Given the description of an element on the screen output the (x, y) to click on. 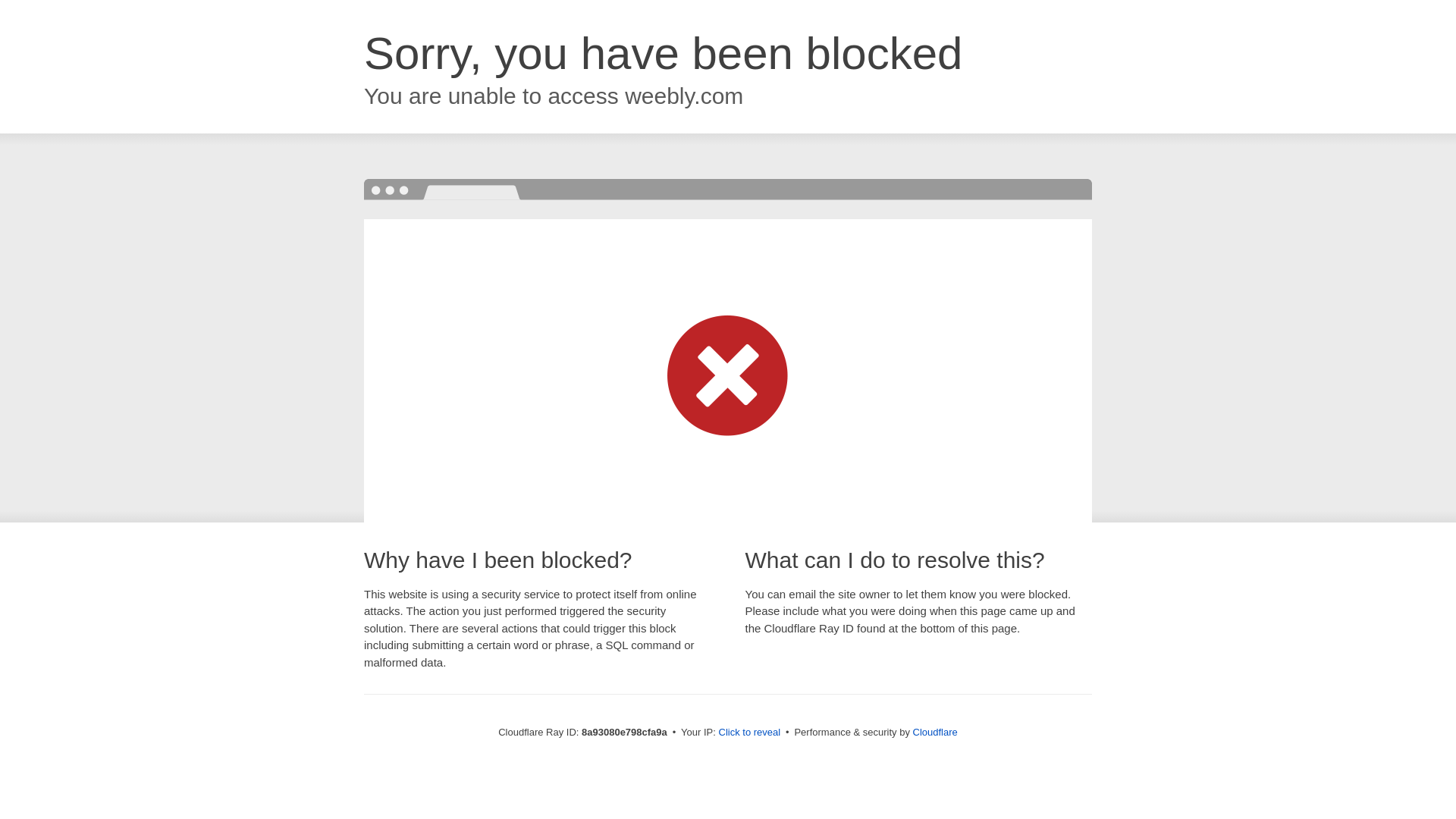
Click to reveal (749, 732)
Cloudflare (935, 731)
